Given the description of an element on the screen output the (x, y) to click on. 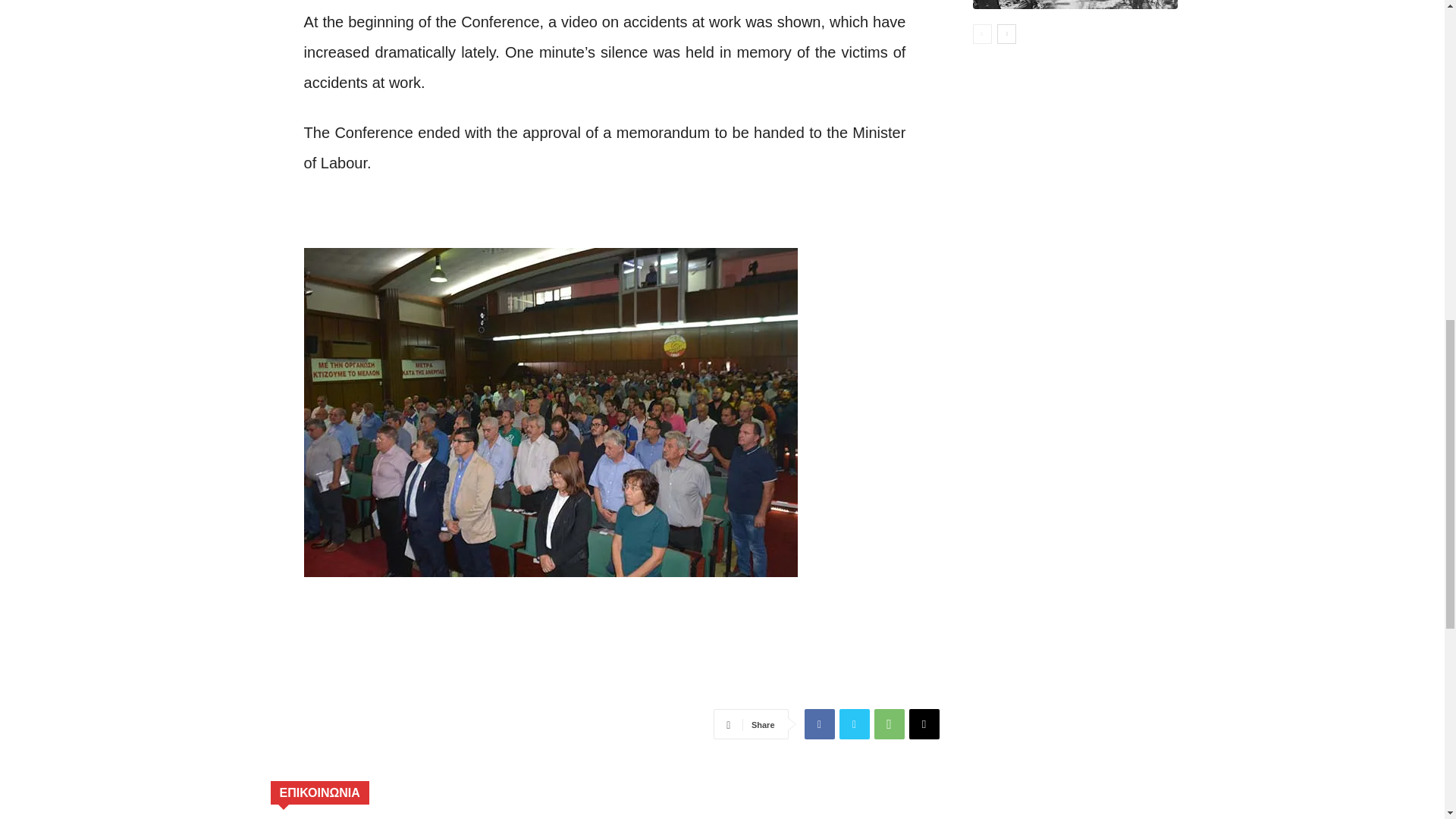
WhatsApp (888, 724)
Facebook (818, 724)
Twitter (853, 724)
